Given the description of an element on the screen output the (x, y) to click on. 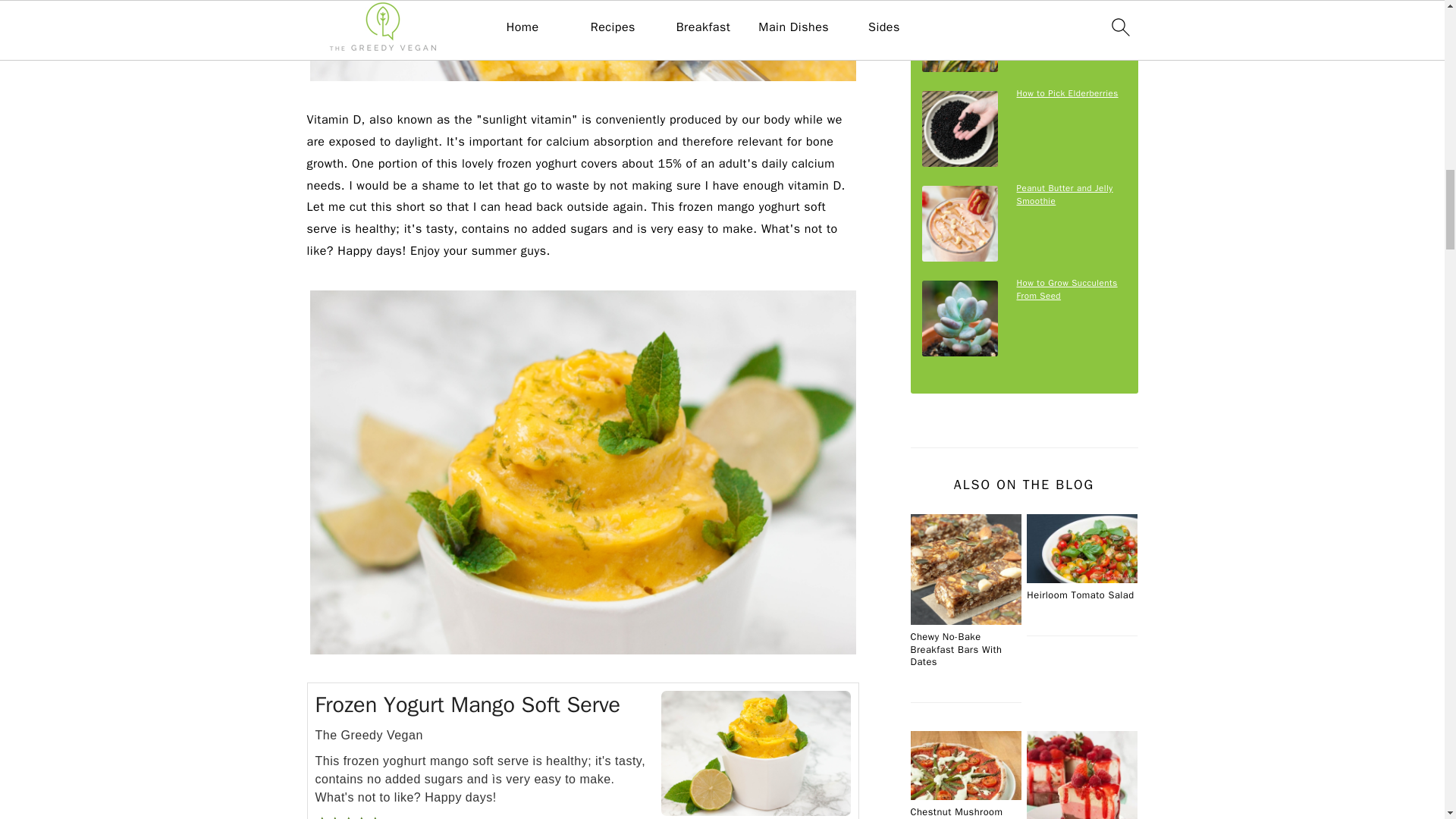
Grilled Zucchini Ribbons with Sriracha Marinade (959, 36)
Peanut Butter and Jelly Smoothie (959, 223)
Chewy No-Bake Breakfast Bars With Dates (965, 621)
How to Grow Succulents From Seed (959, 318)
How to Pick Elderberries (959, 128)
